Given the description of an element on the screen output the (x, y) to click on. 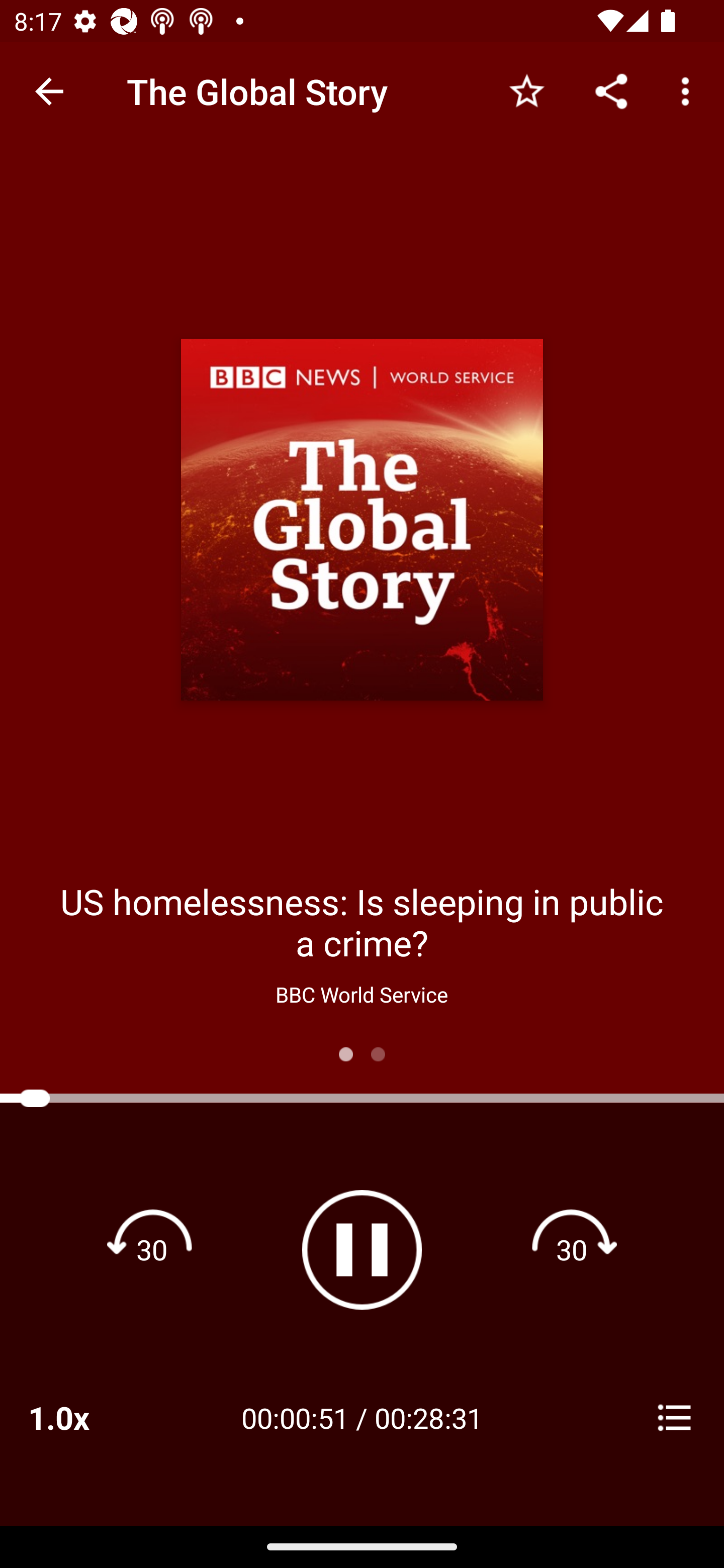
Navigate up (49, 91)
Add to Favorites (526, 90)
Share... (611, 90)
More options (688, 90)
BBC World Service (361, 994)
Pause (361, 1249)
Rewind (151, 1249)
Fast forward (571, 1249)
1.0x Playback Speeds (84, 1417)
00:28:31 (428, 1417)
